Given the description of an element on the screen output the (x, y) to click on. 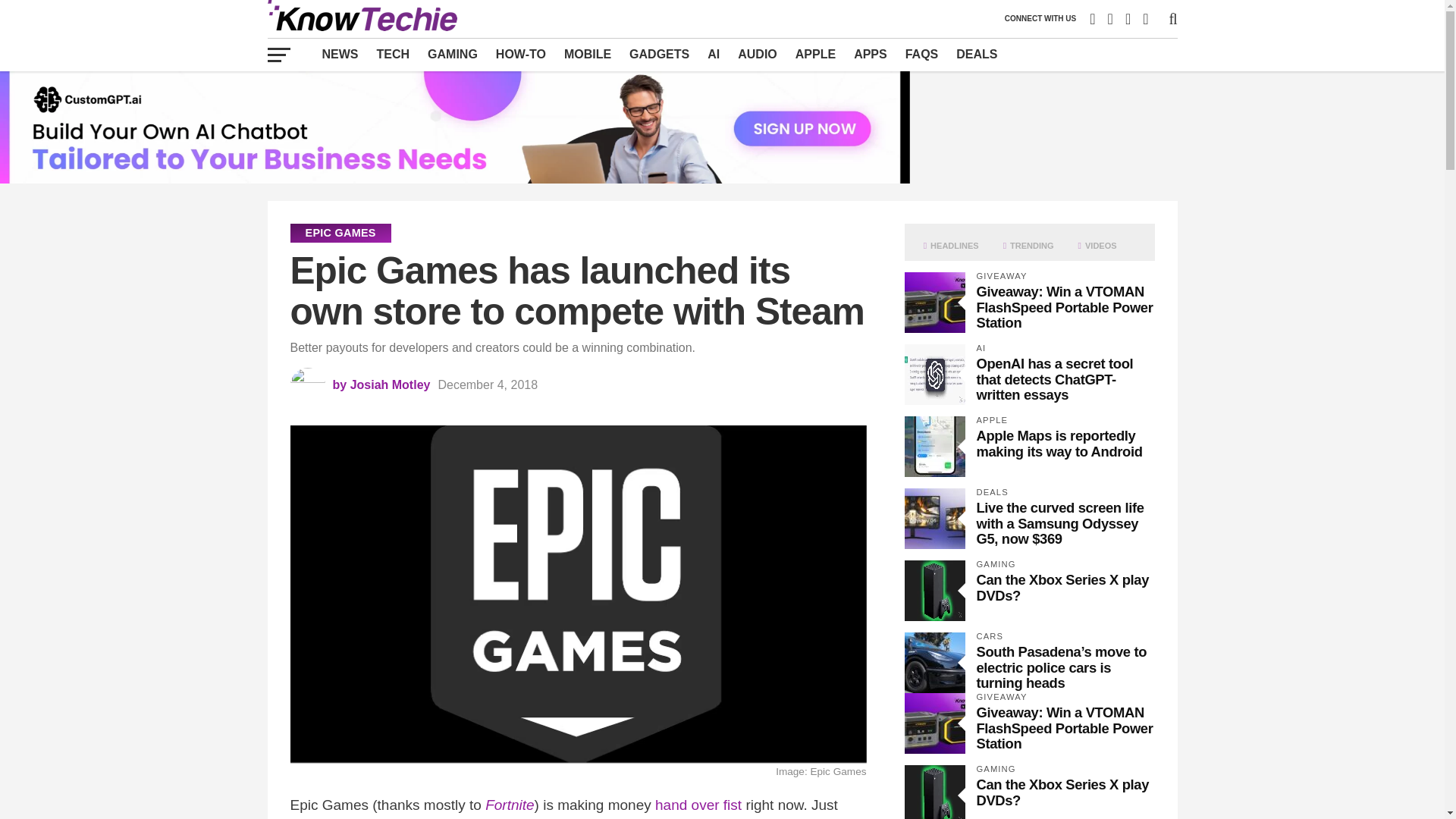
AI (713, 54)
NEWS (339, 54)
hand over fist (698, 804)
GADGETS (659, 54)
FAQS (921, 54)
Josiah Motley (390, 384)
MOBILE (587, 54)
TECH (392, 54)
DEALS (976, 54)
Fortnite (509, 804)
